Given the description of an element on the screen output the (x, y) to click on. 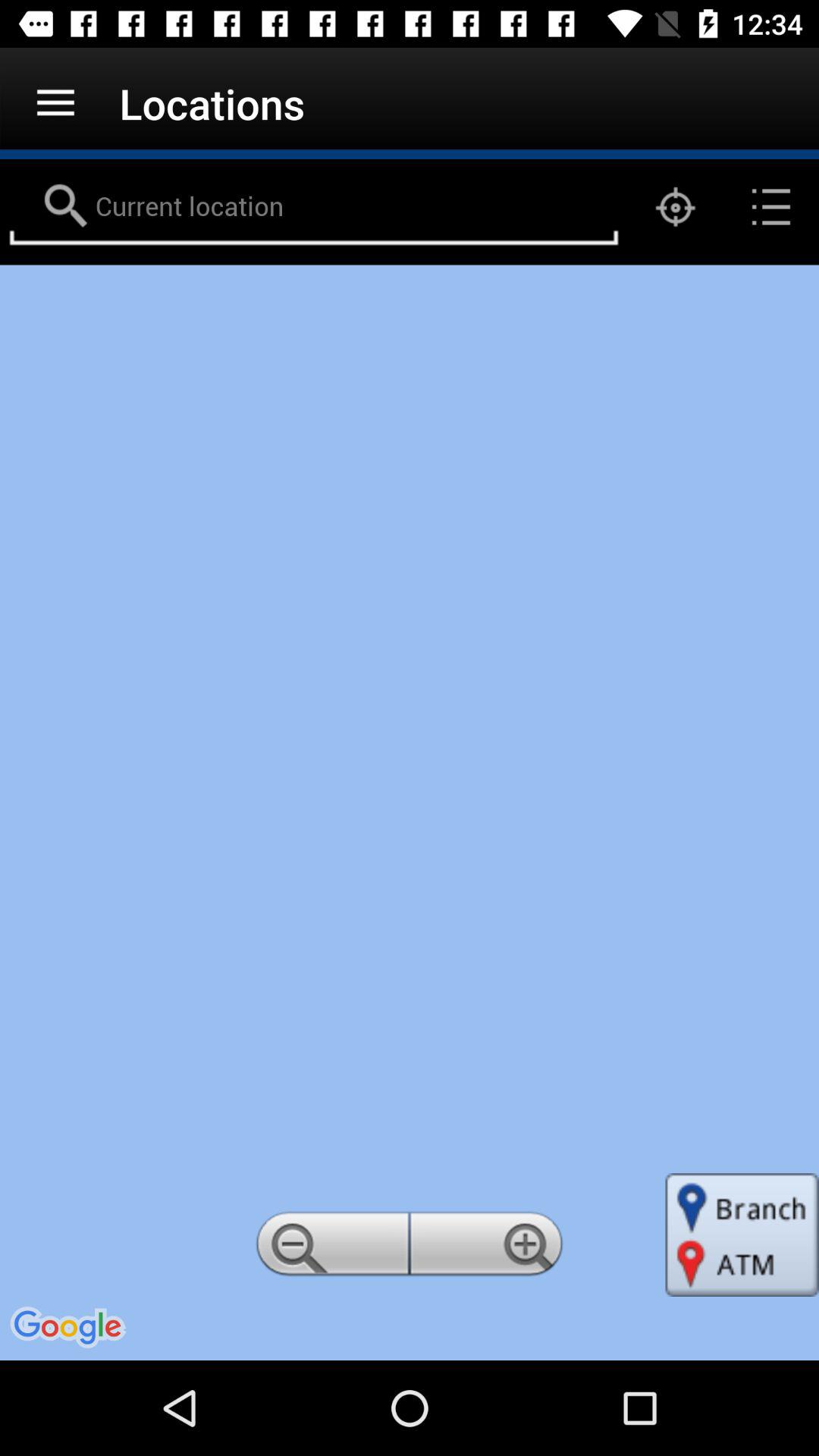
tap the app next to the locations (55, 103)
